Given the description of an element on the screen output the (x, y) to click on. 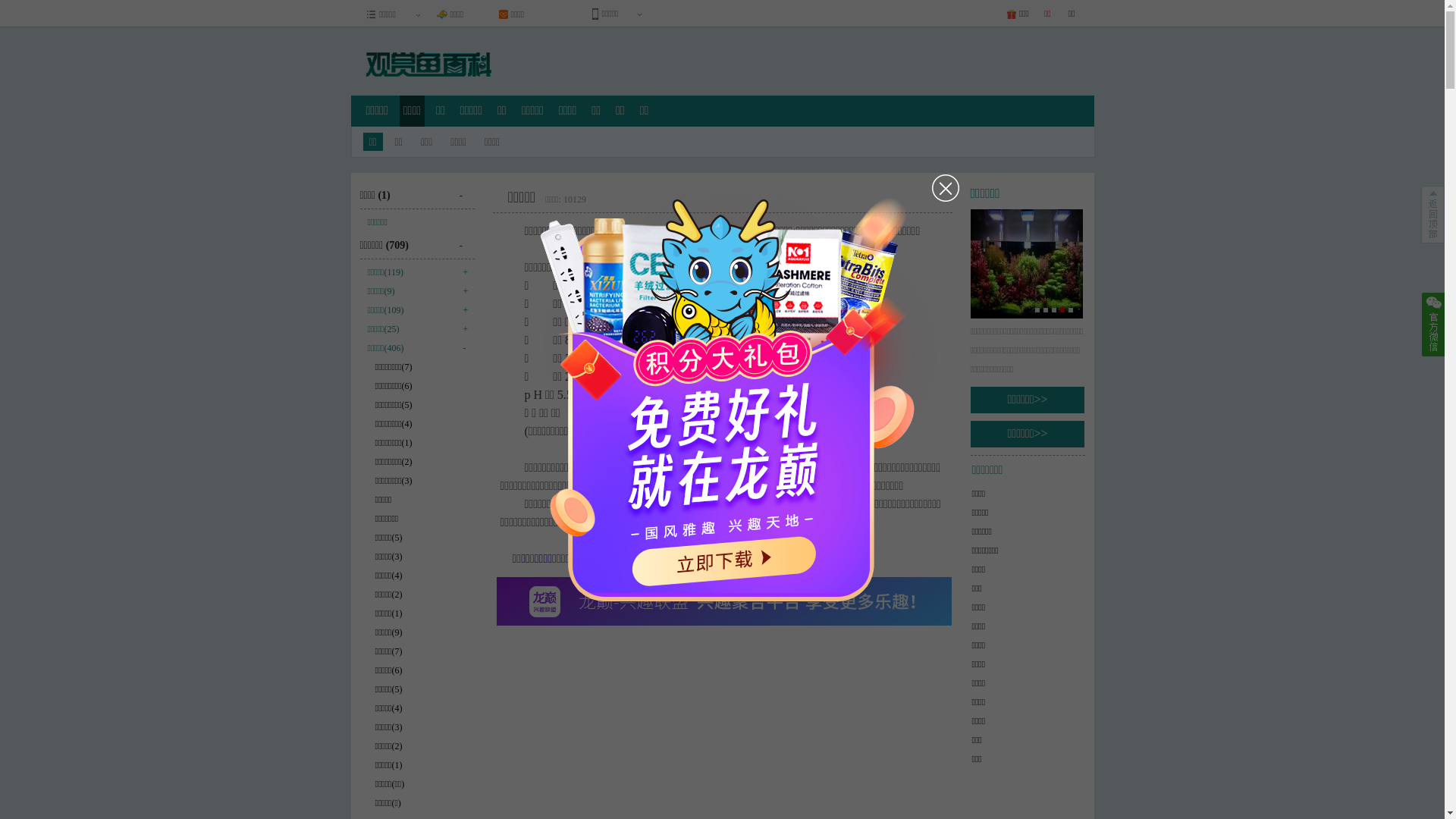
+ Element type: text (462, 289)
+ Element type: text (462, 308)
+ Element type: text (462, 327)
- Element type: text (462, 346)
- Element type: text (466, 189)
- Element type: text (466, 239)
+ Element type: text (462, 270)
